Given the description of an element on the screen output the (x, y) to click on. 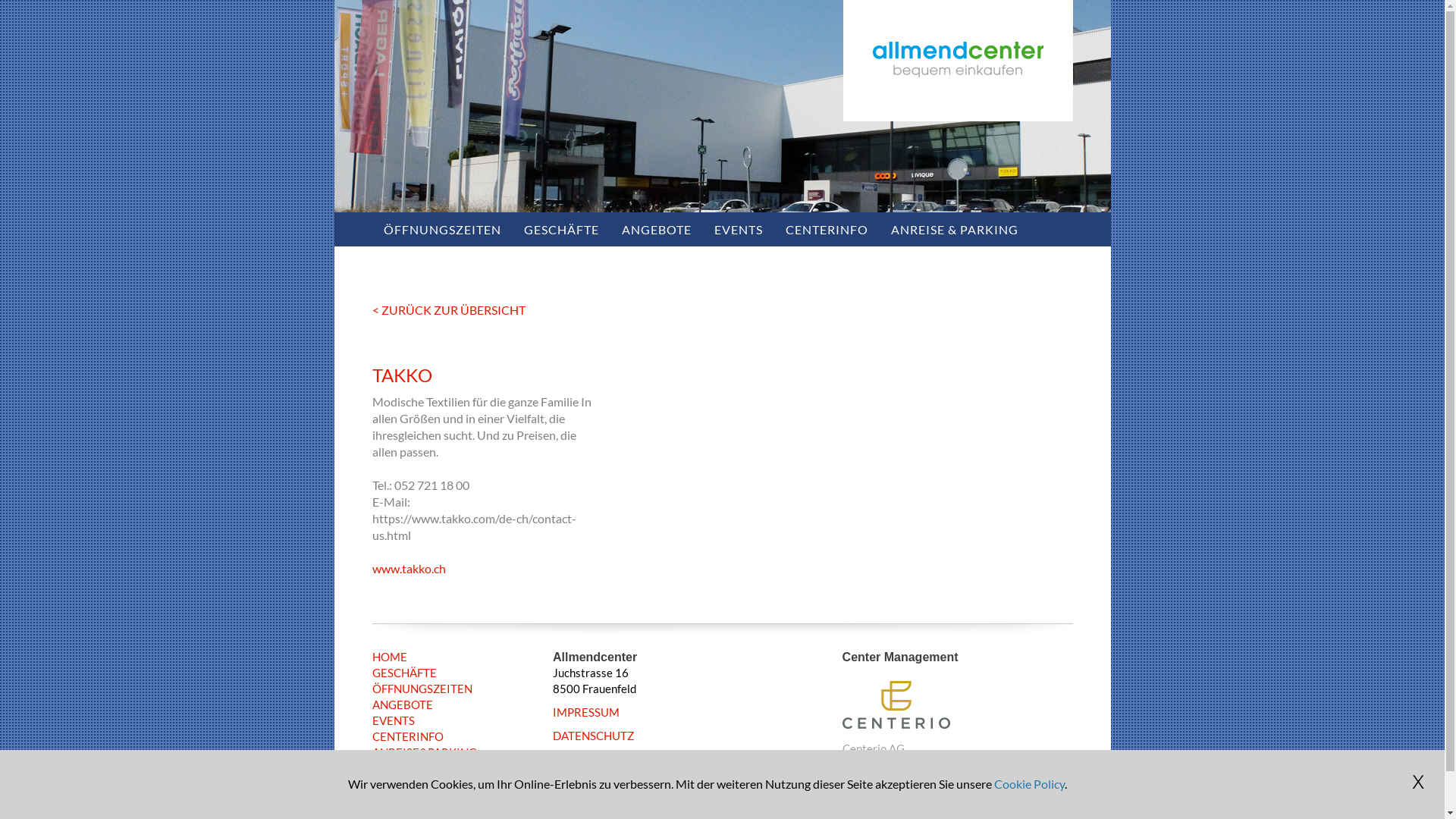
ANREISE & PARKING Element type: text (954, 229)
www.takko.ch Element type: text (408, 568)
EVENTS Element type: text (392, 720)
Cookie Policy Element type: text (1028, 783)
EVENTS Element type: text (737, 229)
DATENSCHUTZ Element type: text (592, 735)
CENTERINFO Element type: text (406, 736)
HOME Element type: text (388, 656)
CENTERINFO Element type: text (825, 229)
ANREISE&PARKING Element type: text (423, 752)
ANGEBOTE Element type: text (655, 229)
IMPRESSUM Element type: text (585, 712)
ANGEBOTE Element type: text (401, 704)
